Given the description of an element on the screen output the (x, y) to click on. 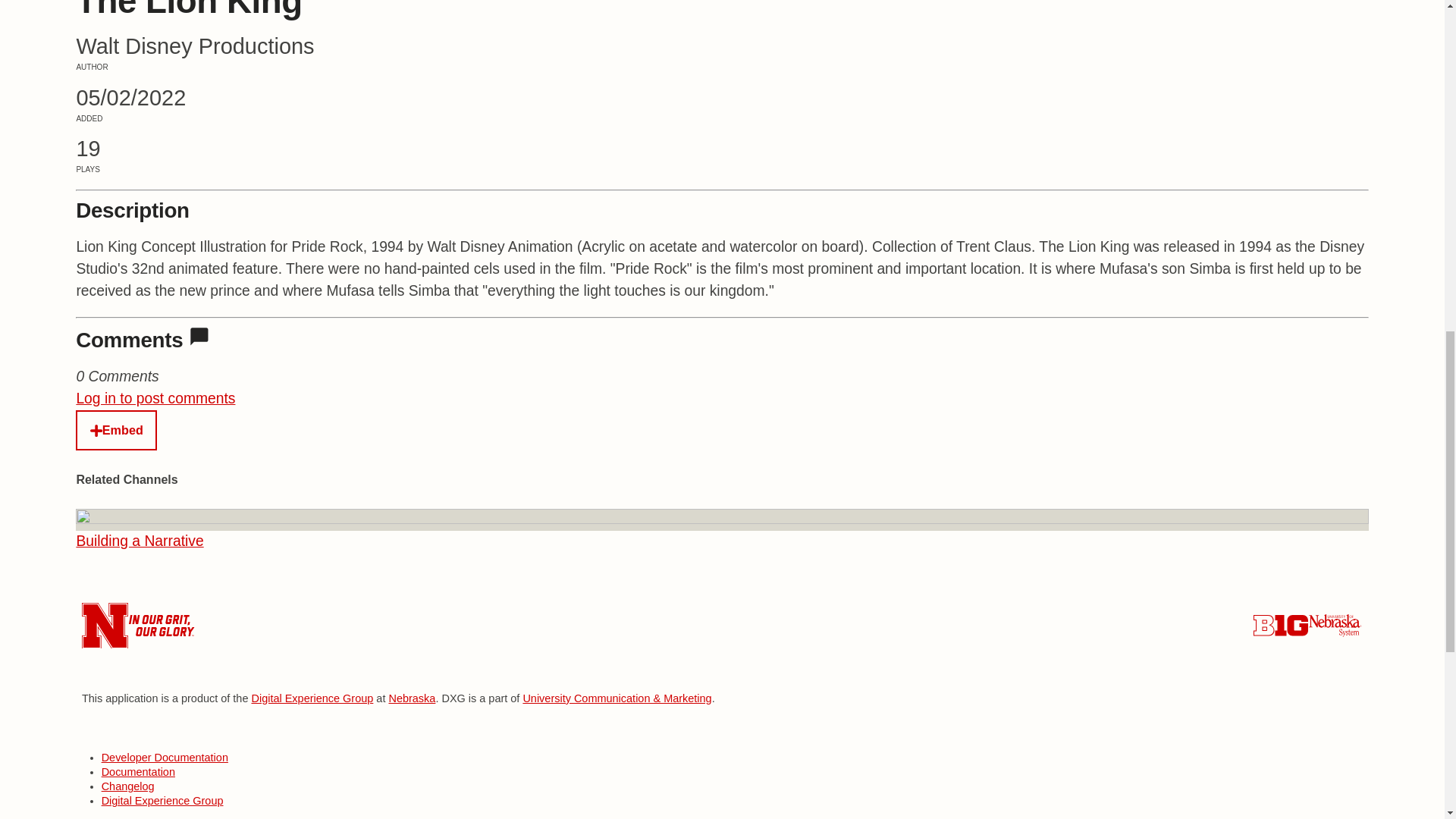
Log in to post comments (154, 398)
Embed (116, 430)
Changelog (127, 786)
Developer Documentation (164, 757)
Digital Experience Group (162, 800)
icon comment (199, 336)
Nebraska (311, 698)
Building a Narrative (411, 698)
Documentation (139, 540)
